Given the description of an element on the screen output the (x, y) to click on. 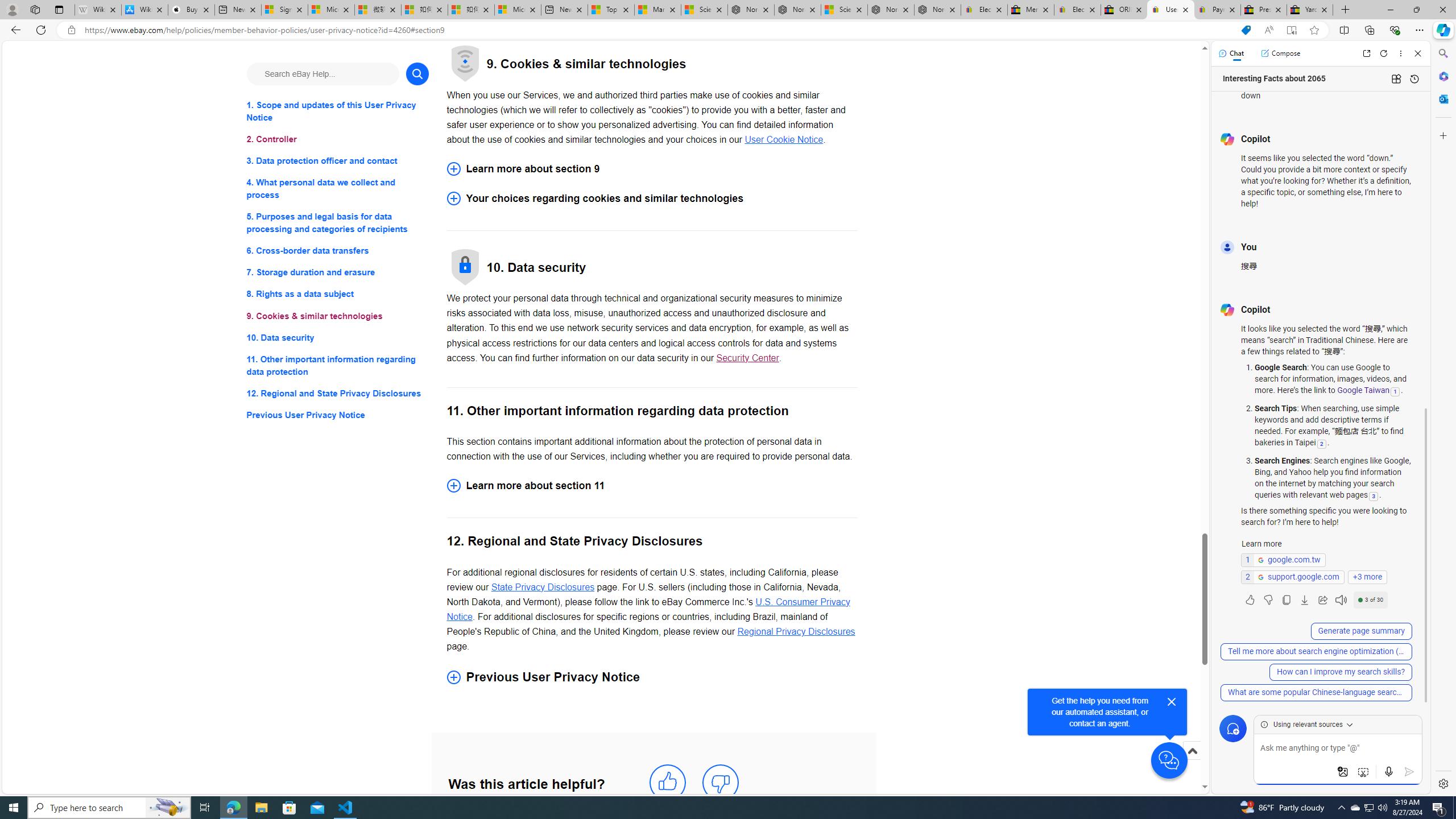
mark this article helpful (667, 782)
11. Other important information regarding data protection (337, 365)
7. Storage duration and erasure (337, 272)
10. Data security (337, 336)
Learn more about section 11 (651, 485)
10. Data security (337, 336)
6. Cross-border data transfers (337, 250)
U.S. Consumer Privacy Notice - opens in new window or tab (648, 608)
1. Scope and updates of this User Privacy Notice (337, 111)
